Given the description of an element on the screen output the (x, y) to click on. 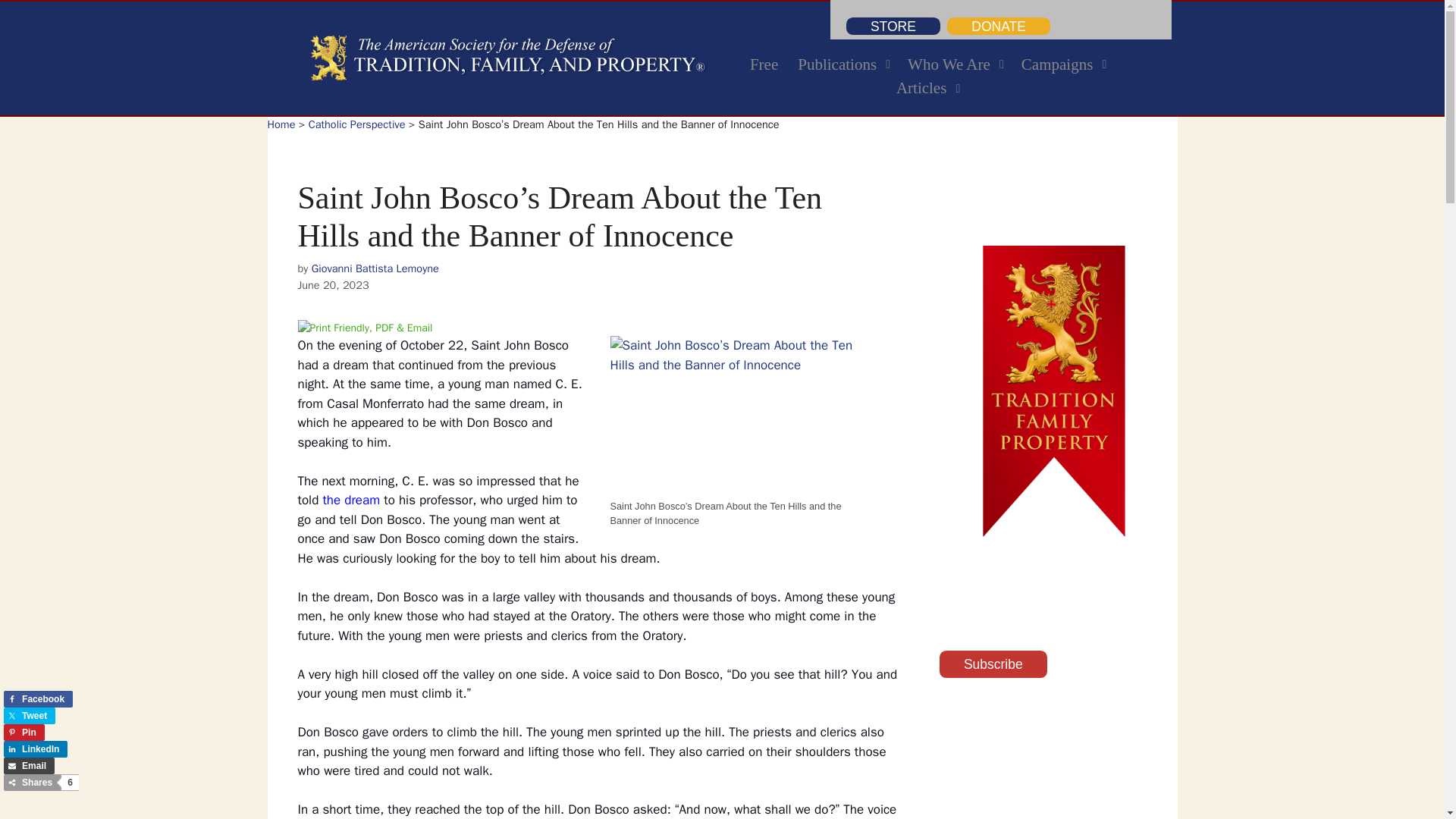
Share on LinkedIn (35, 749)
Email (29, 765)
Share on Twitter (29, 715)
Share via Email (29, 765)
View all posts by Giovanni Battista Lemoyne (375, 268)
Share on Facebook (927, 76)
Free (38, 699)
Share on Pinterest (763, 64)
Who We Are (24, 732)
